Given the description of an element on the screen output the (x, y) to click on. 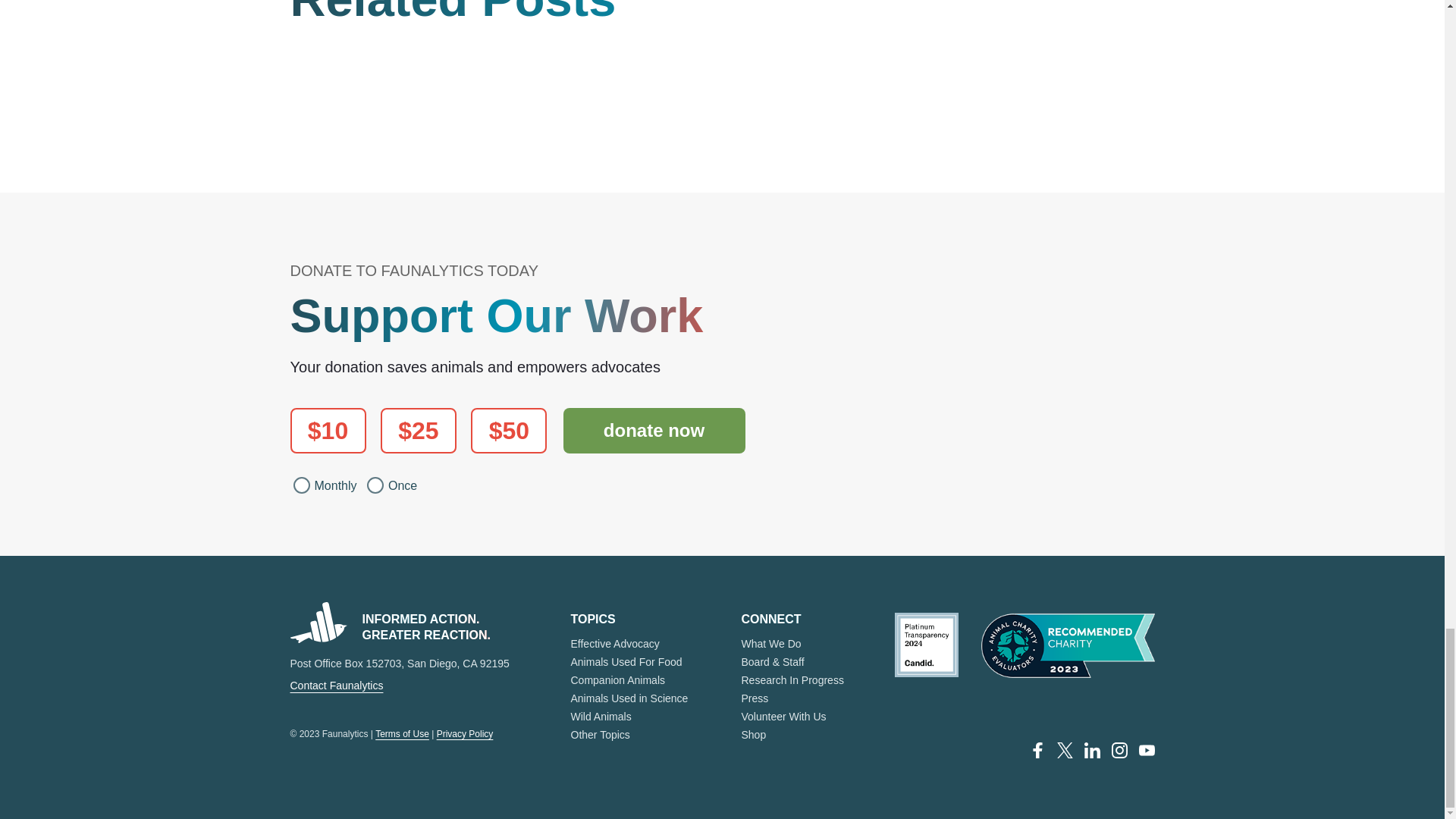
DONATE NOW (653, 430)
